Given the description of an element on the screen output the (x, y) to click on. 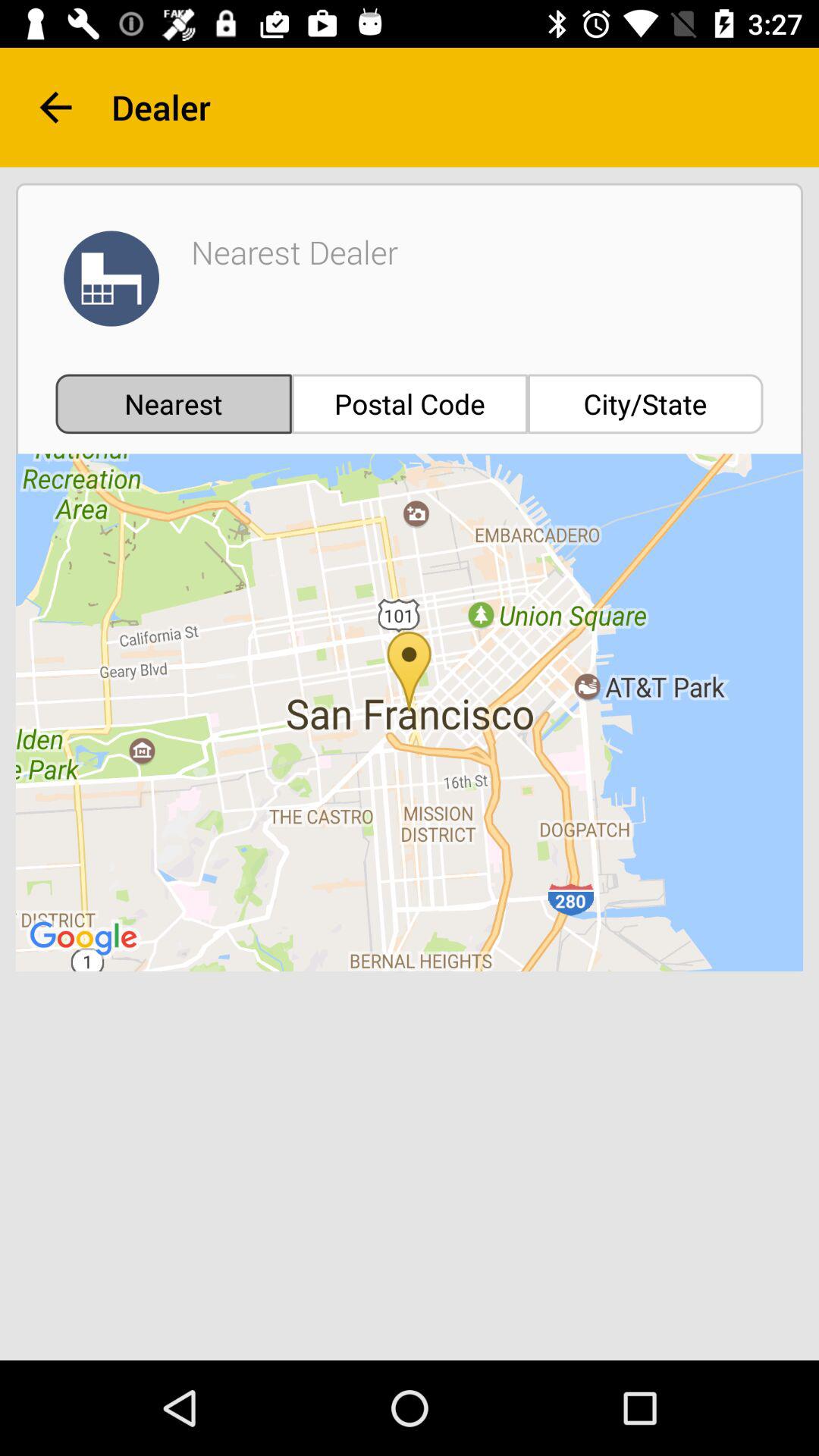
flip to the postal code (409, 403)
